Given the description of an element on the screen output the (x, y) to click on. 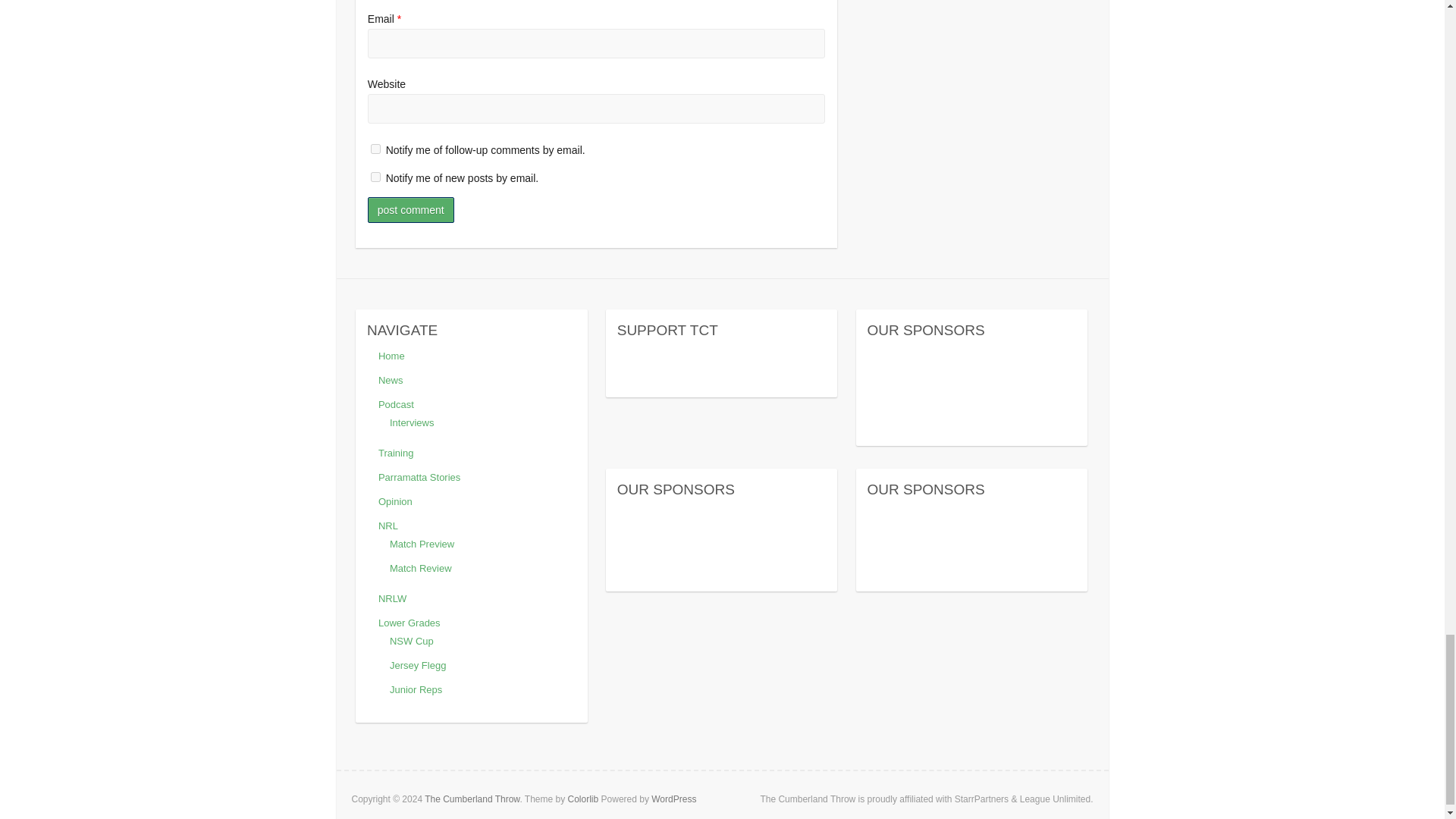
Colorlib (582, 798)
our sponsors (972, 356)
WordPress (672, 798)
subscribe (375, 148)
subscribe (375, 176)
our sponsors (722, 515)
Post Comment (411, 209)
our sponsors (972, 515)
The Cumberland Throw (472, 798)
